Given the description of an element on the screen output the (x, y) to click on. 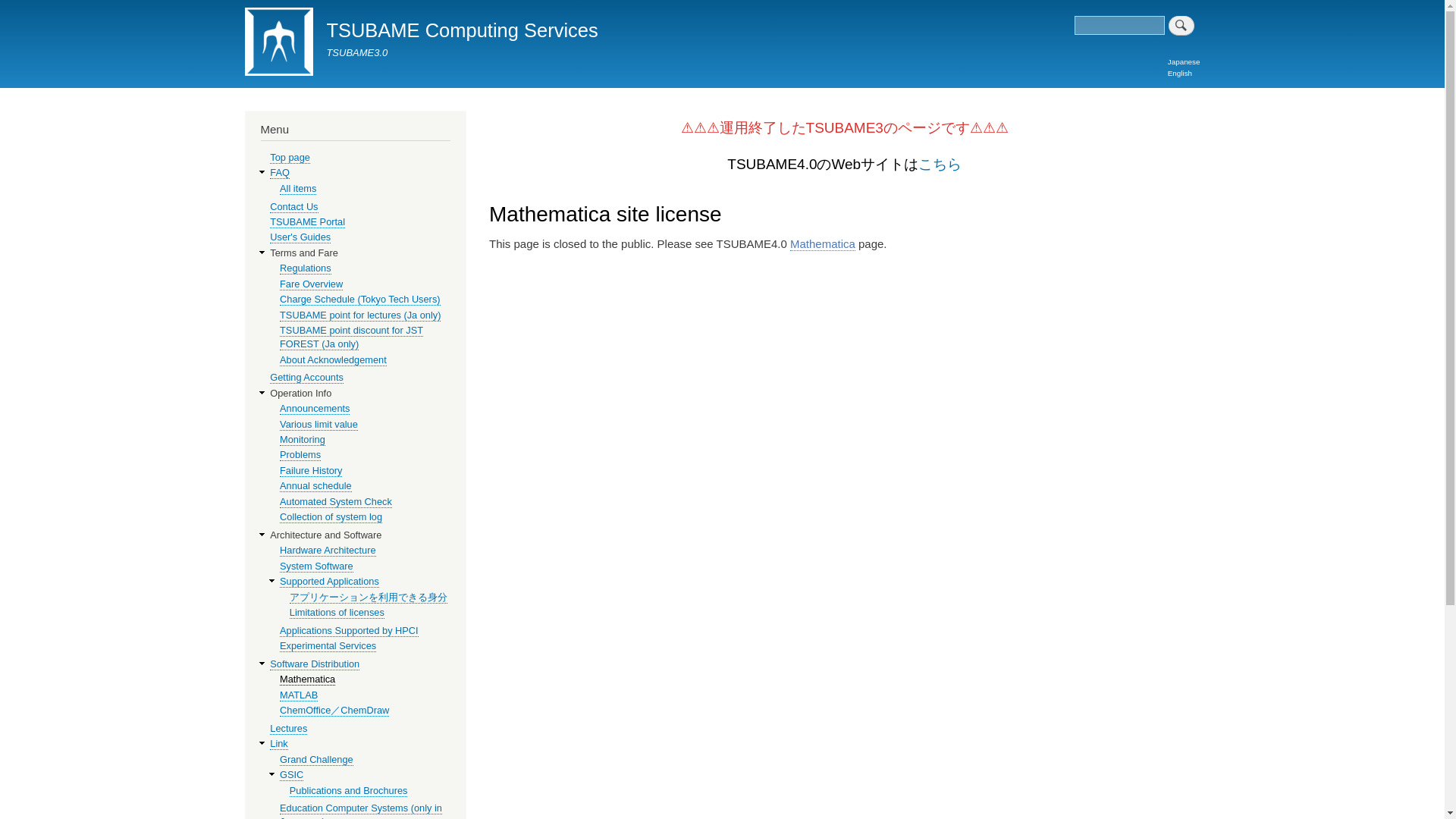
Skip to main content (722, 1)
Announcements (314, 408)
Collection of system log (330, 517)
Search (1181, 25)
Software Distribution (314, 664)
Monitoring (301, 439)
Enter the terms you wish to search for. (1119, 25)
Contact Us (293, 206)
Experimental Services (327, 645)
TSUBAME Computing Services (461, 29)
TSUBAME Portal (307, 222)
Problems (299, 454)
Applications Supported by HPCI (349, 630)
FAQ (279, 173)
Automated System Check (335, 501)
